Given the description of an element on the screen output the (x, y) to click on. 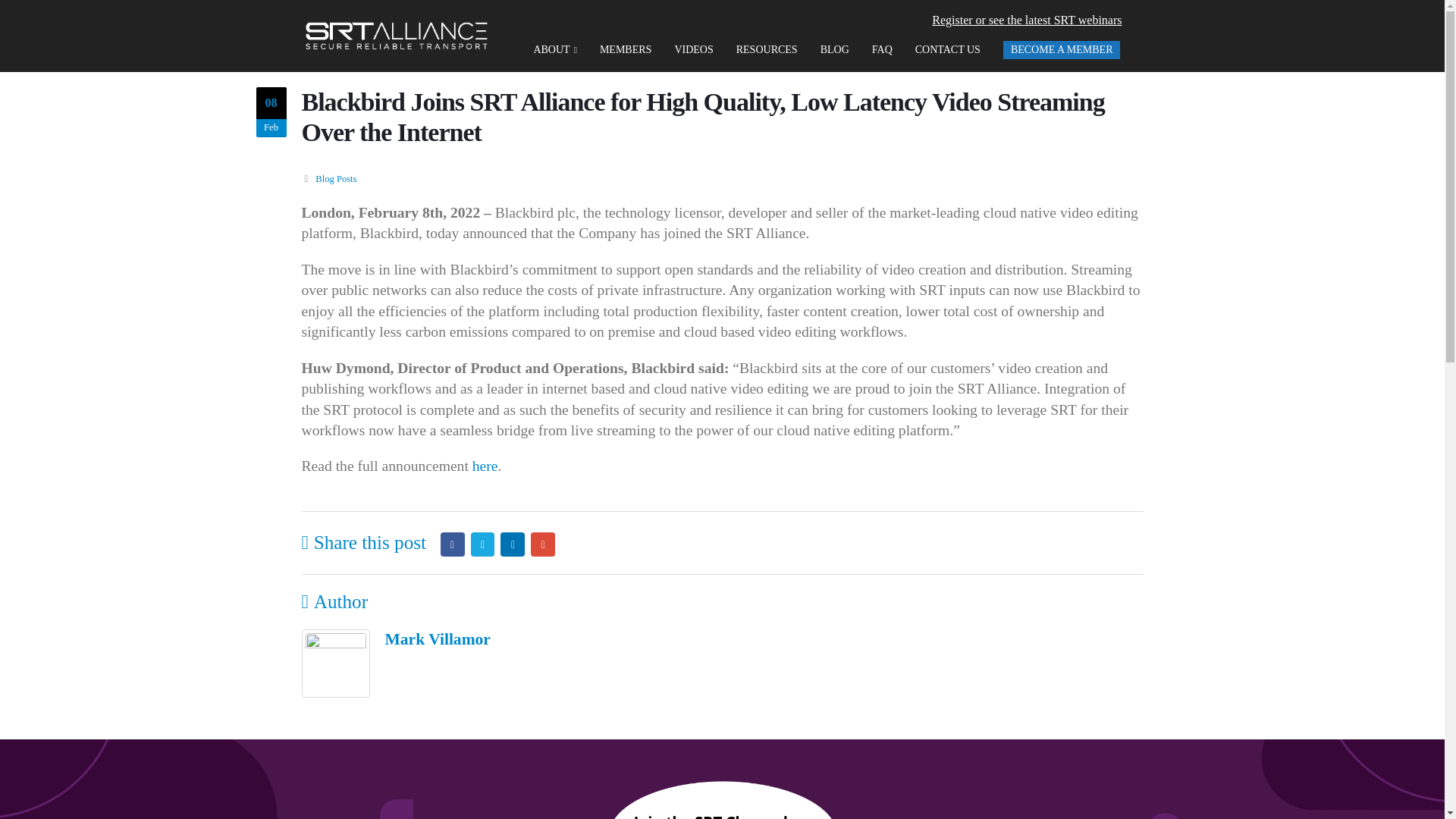
Twitter (482, 544)
Facebook (452, 544)
link for webinars (1026, 19)
FAQ (882, 50)
Facebook (452, 544)
SRT Alliance -  (396, 35)
Blog Posts (335, 178)
Email (542, 544)
here (484, 465)
RESOURCES (766, 50)
Mark Villamor (437, 638)
ABOUT (554, 50)
Email (542, 544)
Posts by Mark Villamor (437, 638)
BLOG (834, 50)
